Given the description of an element on the screen output the (x, y) to click on. 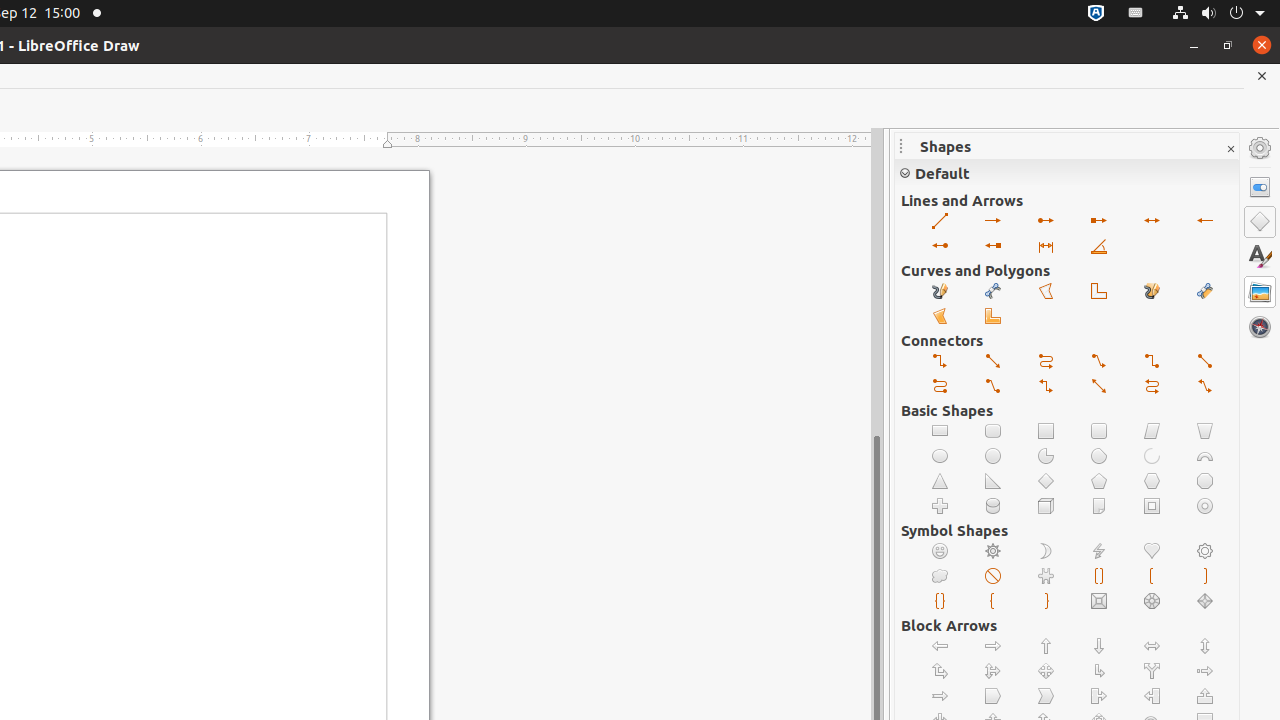
Octagon Element type: list-item (1205, 481)
Navigator Element type: radio-button (1260, 327)
Right Brace Element type: list-item (1046, 601)
Dimension Line Element type: list-item (1046, 246)
Line with Arrow/Square Element type: list-item (993, 246)
